Given the description of an element on the screen output the (x, y) to click on. 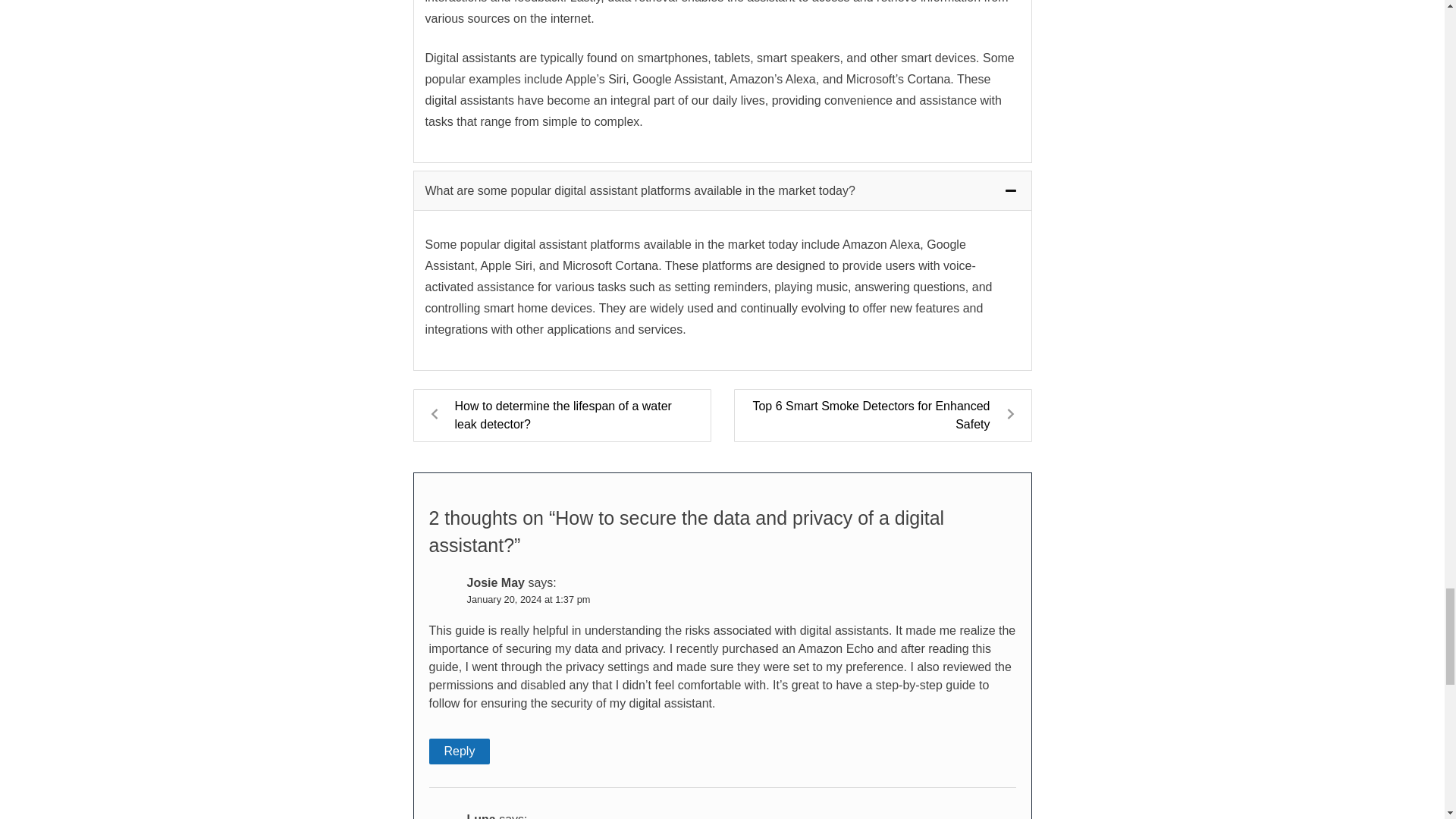
Reply (459, 751)
Top 6 Smart Smoke Detectors for Enhanced Safety (882, 415)
January 20, 2024 at 1:37 pm (529, 599)
How to determine the lifespan of a water leak detector? (561, 415)
